Given the description of an element on the screen output the (x, y) to click on. 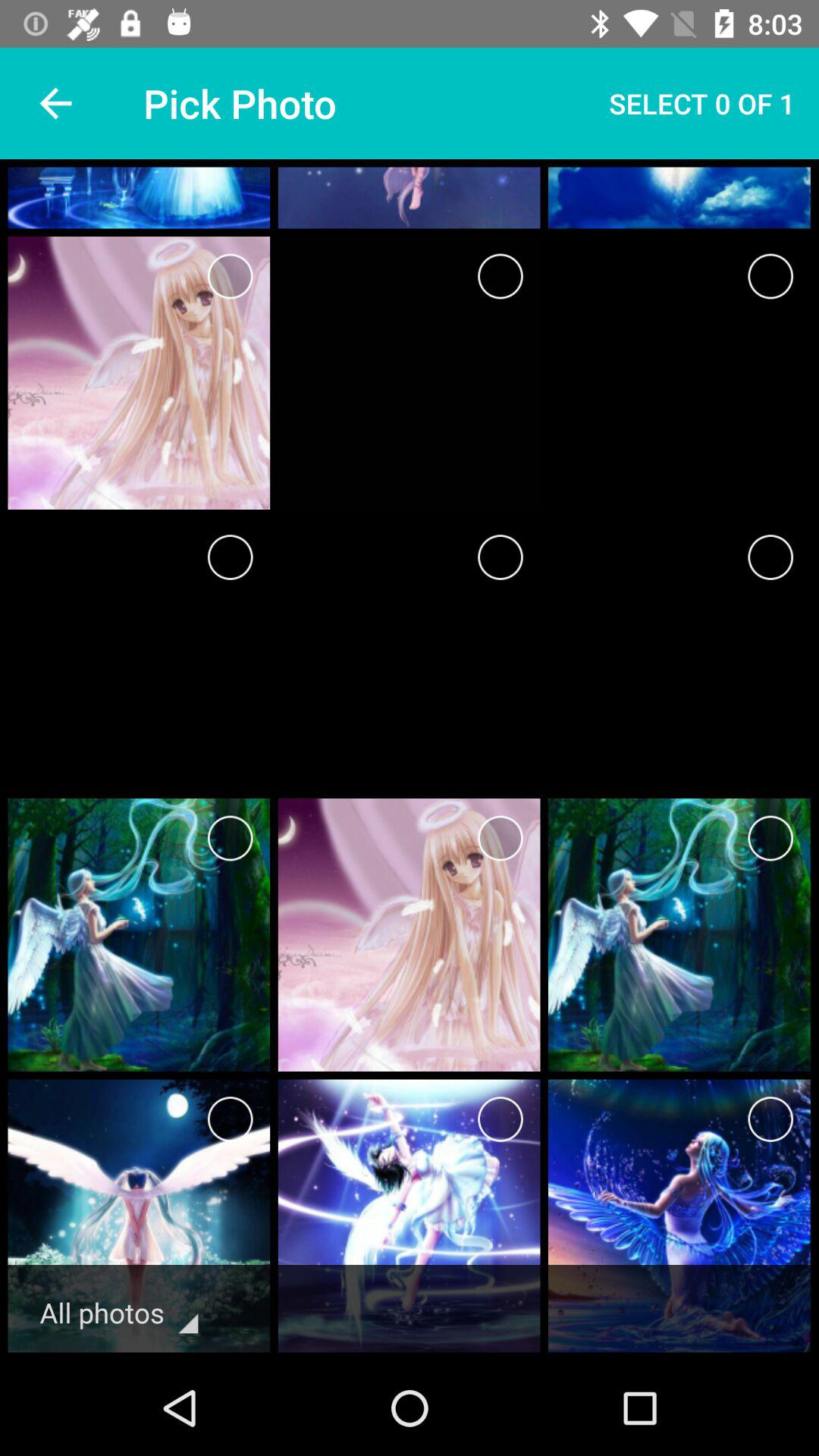
click on icon (770, 1119)
